Given the description of an element on the screen output the (x, y) to click on. 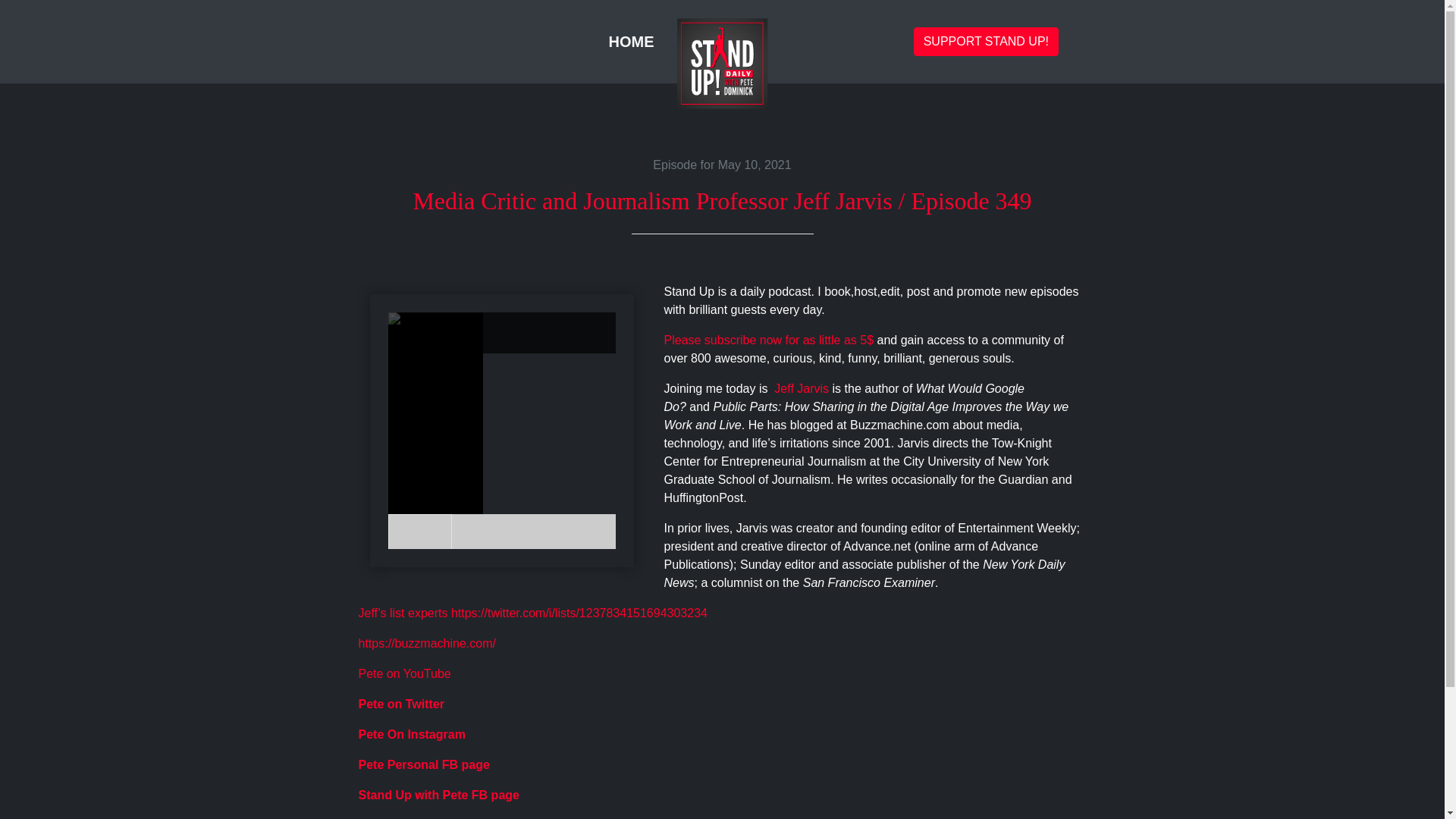
Pete Personal FB page (423, 764)
Pete On Instagram (411, 734)
HOME (630, 41)
Pete on YouTube (403, 673)
Stand Up with Pete FB page (438, 794)
SUPPORT STAND UP! (986, 41)
Pete on Twitter (401, 703)
Jeff Jarvis (801, 388)
